Given the description of an element on the screen output the (x, y) to click on. 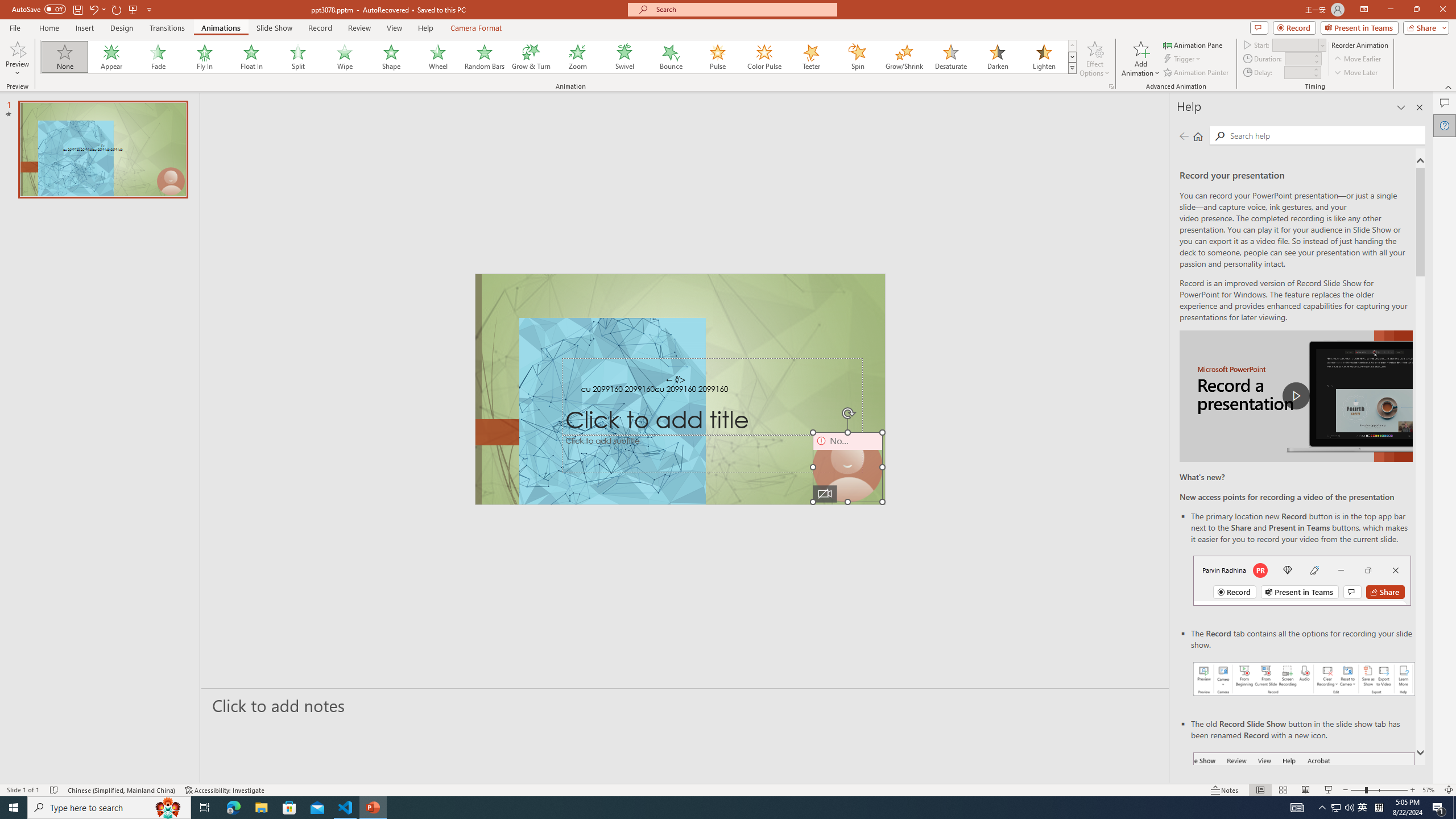
Camera 9, No camera detected. (846, 466)
Move Later (1355, 72)
Animation Styles (1071, 67)
TextBox 61 (679, 390)
Lighten (1043, 56)
Animation Delay (1297, 72)
